Given the description of an element on the screen output the (x, y) to click on. 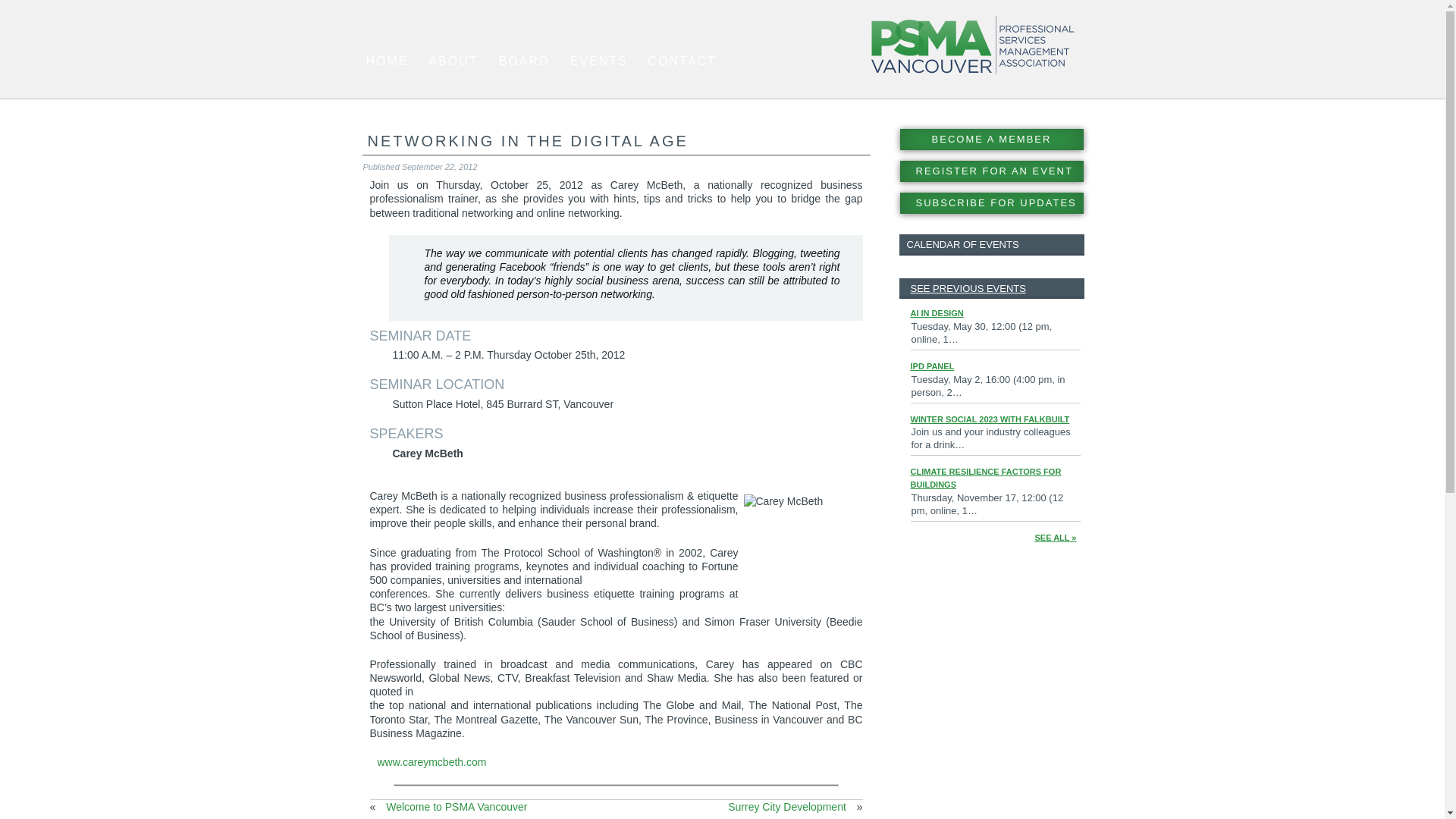
Carey McBeth (799, 551)
PSMA Vancouver (972, 45)
SUBSCRIBE FOR UPDATES (991, 202)
Surrey City Development (786, 806)
ABOUT (454, 60)
REGISTER FOR AN EVENT (991, 170)
Contact (681, 60)
CONTACT (681, 60)
EVENTS (598, 60)
IPD PANEL (931, 366)
